Given the description of an element on the screen output the (x, y) to click on. 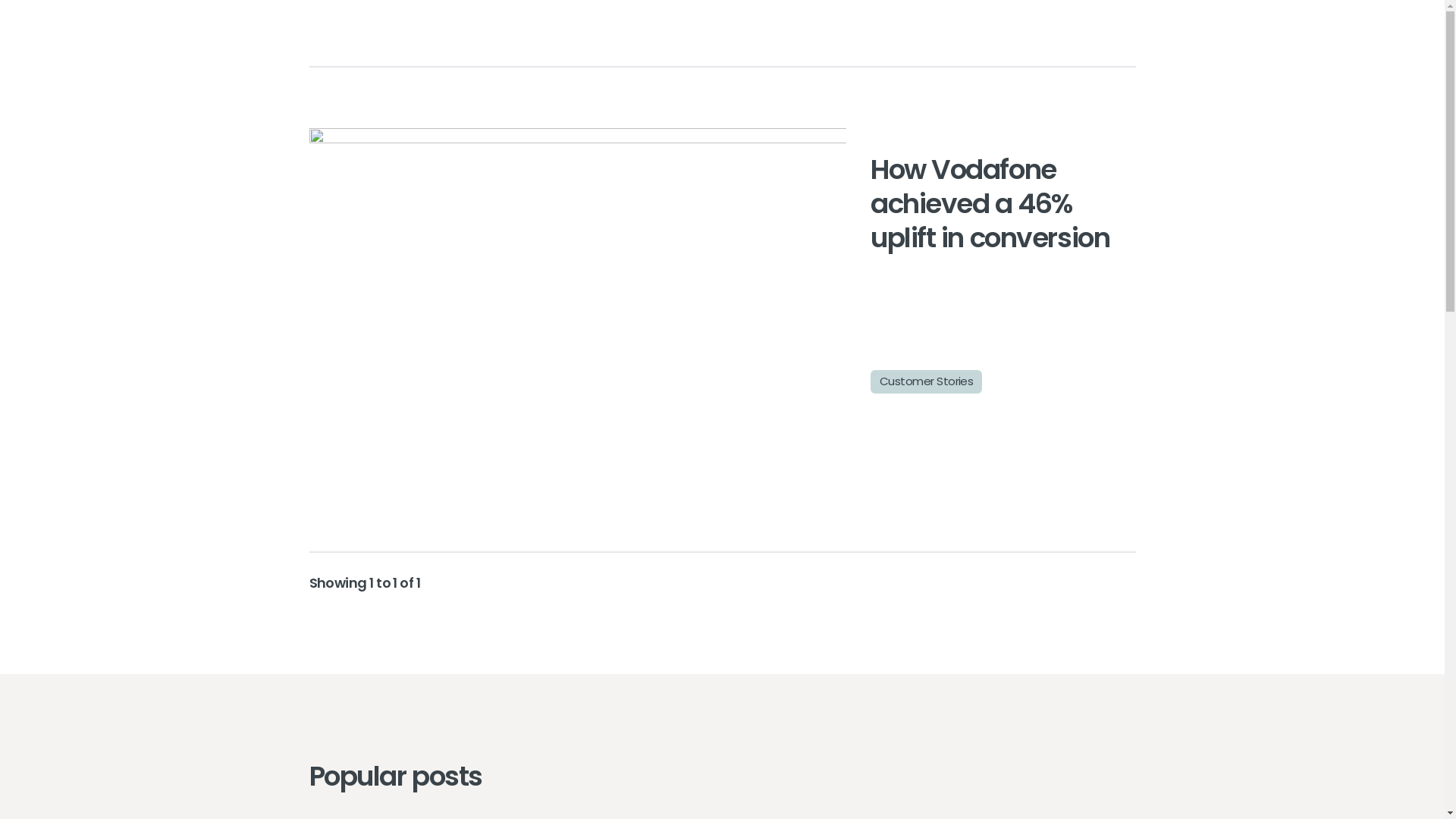
Customer Stories Element type: text (926, 381)
How Vodafone achieved a 46% uplift in conversion Element type: text (989, 203)
